Given the description of an element on the screen output the (x, y) to click on. 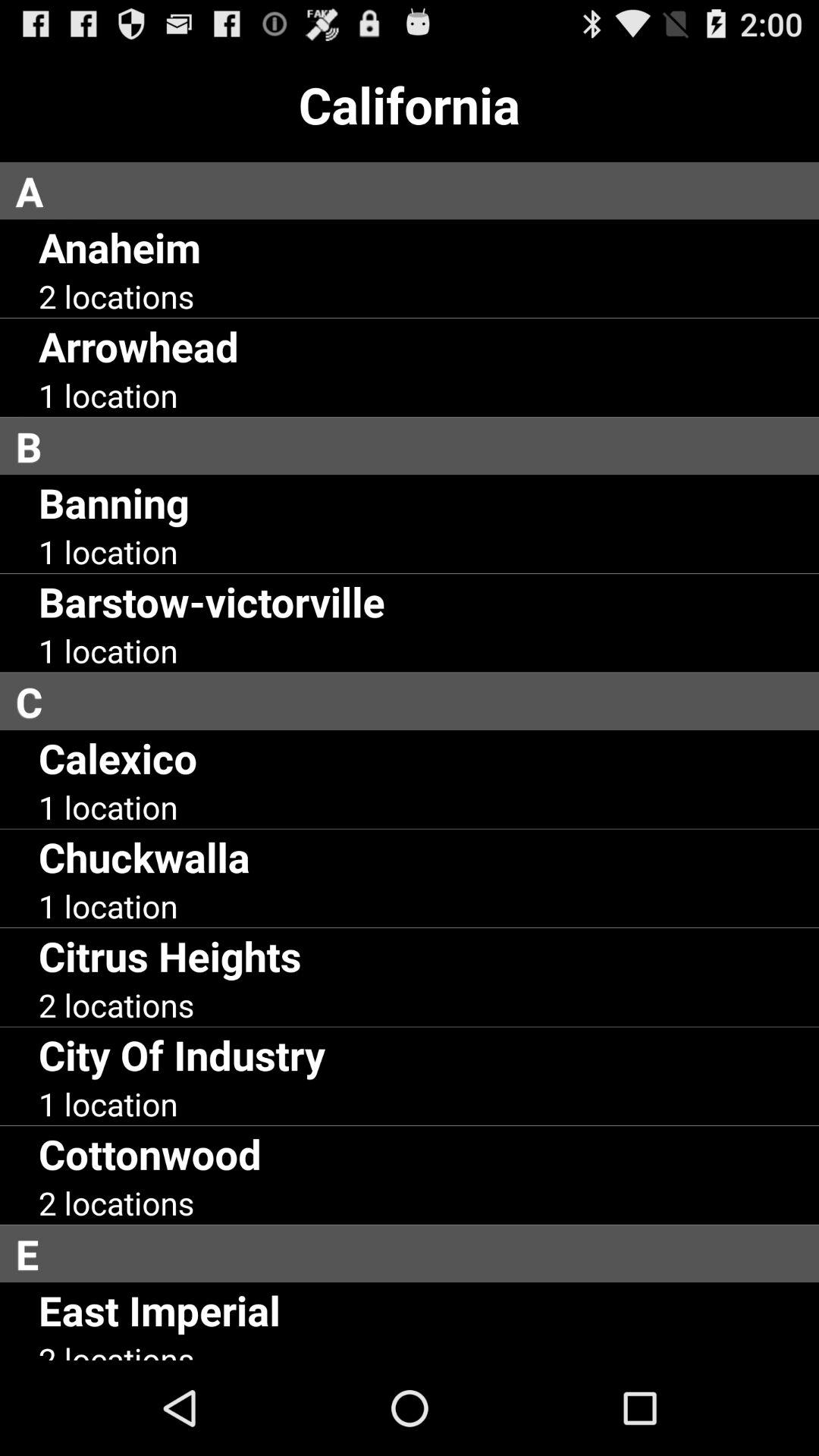
open item below b icon (113, 502)
